Given the description of an element on the screen output the (x, y) to click on. 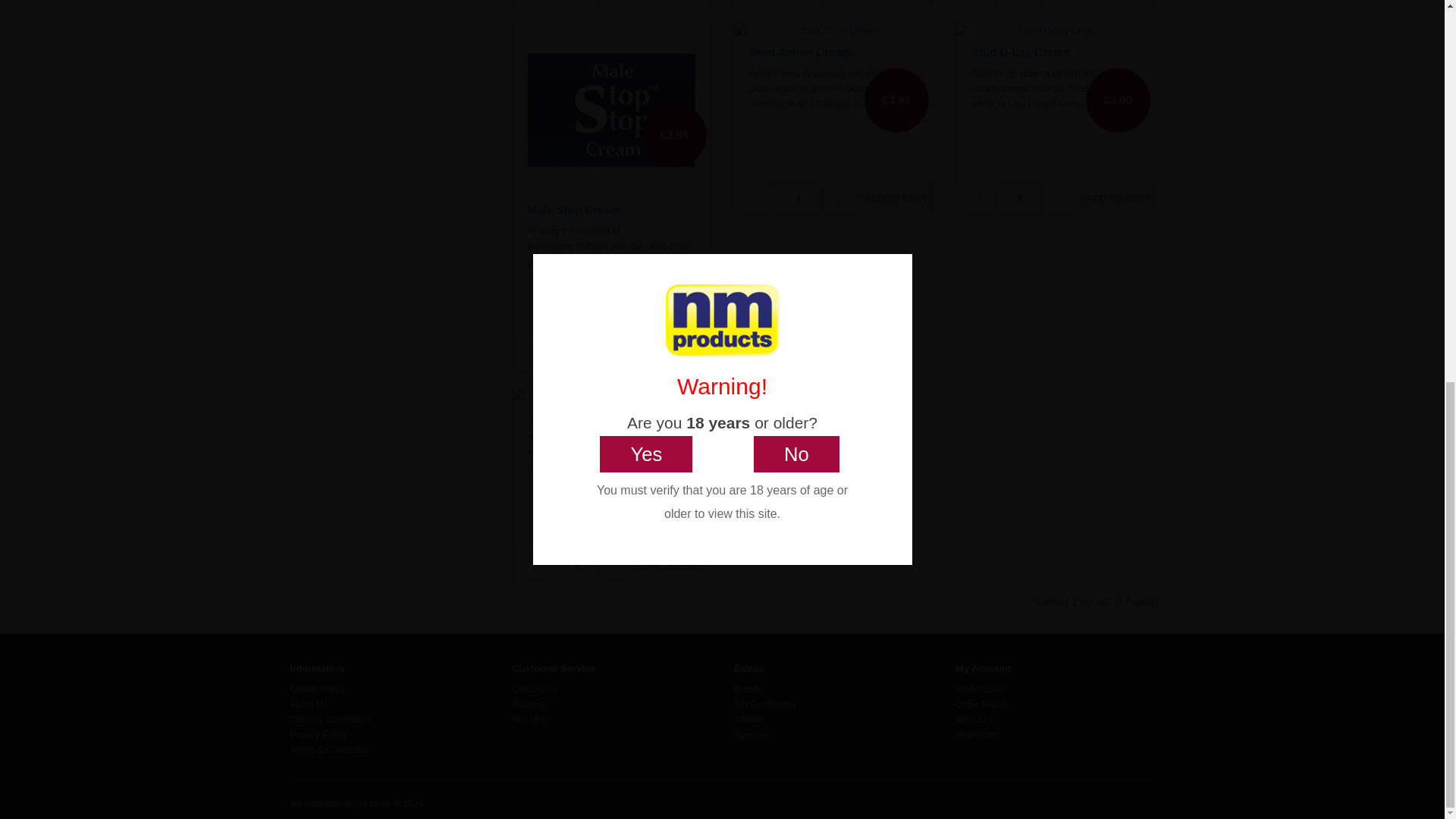
Male Stop Cream (610, 109)
1 (576, 562)
1 (576, 3)
Stud Delay Spray (611, 395)
1 (1020, 198)
Stud D-Lay Cream (1054, 30)
Stud Action Cream (832, 30)
1 (798, 3)
1 (1020, 3)
1 (798, 198)
1 (576, 356)
